Given the description of an element on the screen output the (x, y) to click on. 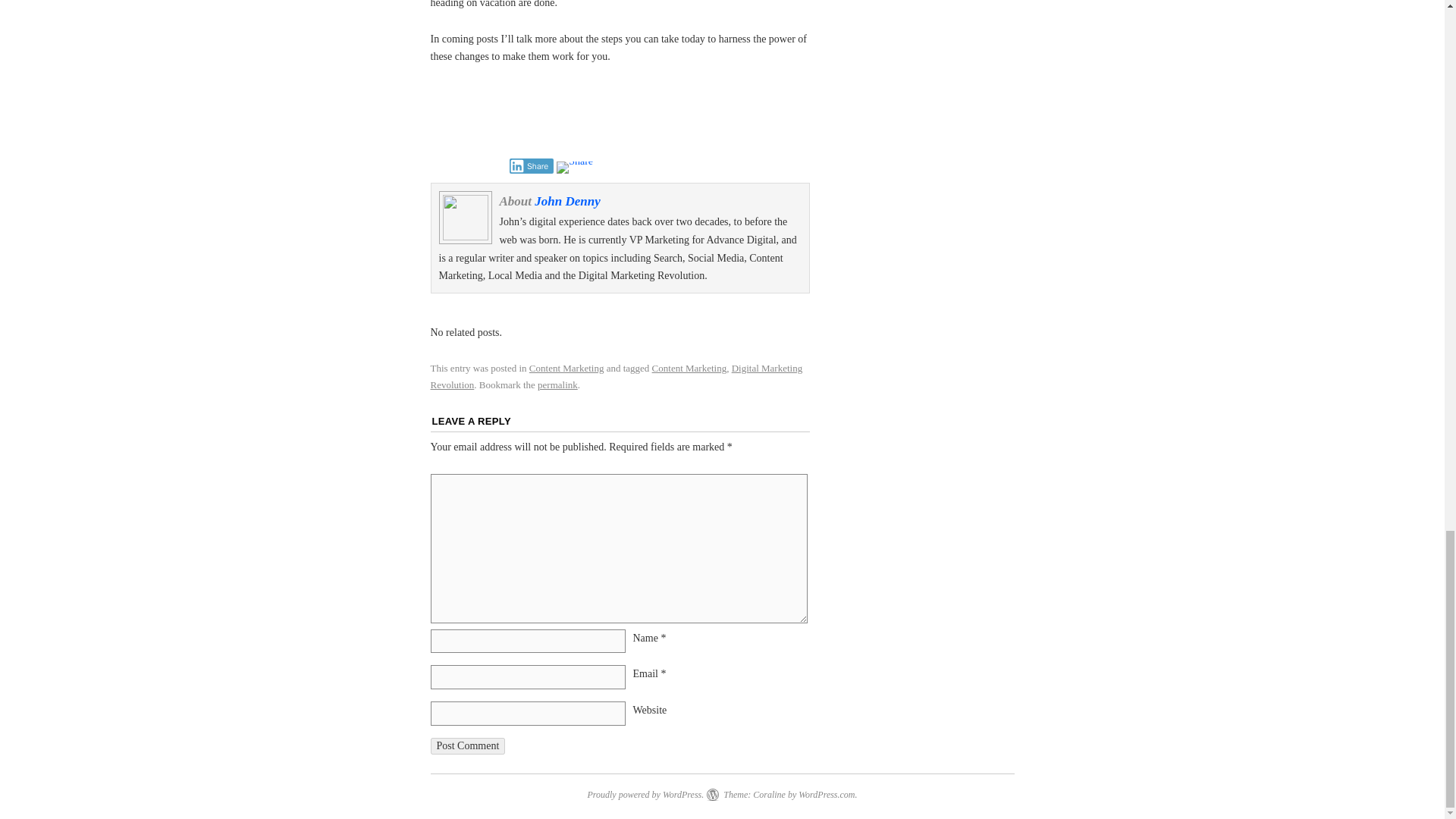
Content Marketing (689, 367)
John Denny (566, 201)
Post Comment (467, 745)
Digital Marketing Revolution (616, 376)
permalink (557, 384)
A Semantic Personal Publishing Platform (644, 794)
Content Marketing (566, 367)
Share (531, 165)
Post Comment (467, 745)
